Given the description of an element on the screen output the (x, y) to click on. 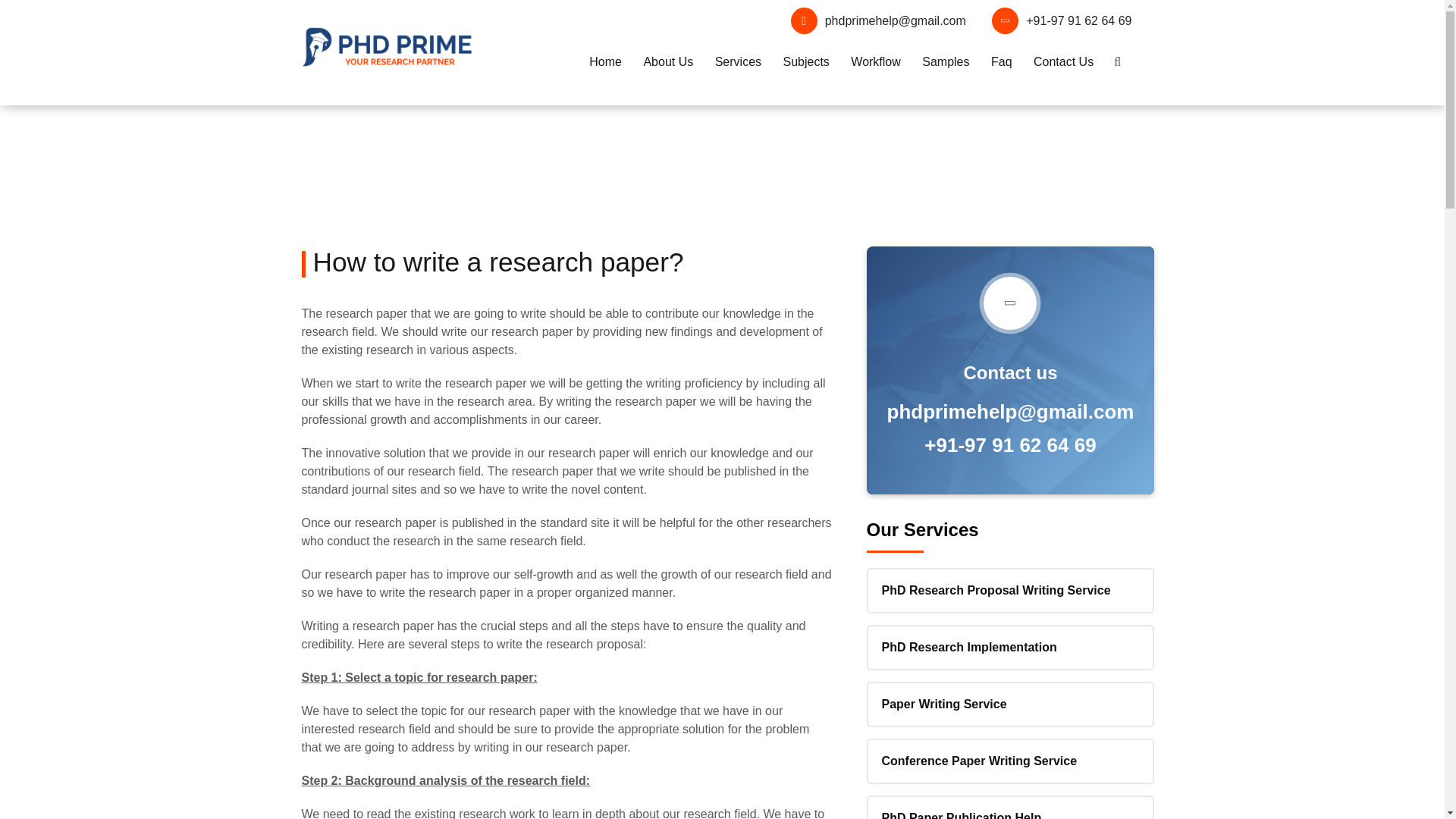
Faq (1001, 62)
Contact Us (1063, 62)
Samples (945, 62)
Paper Writing Service (1010, 704)
Conference Paper Writing Service (1010, 760)
Workflow (875, 62)
About Us (668, 62)
PhD Research Implementation (1010, 647)
Home (605, 62)
Subjects (805, 62)
